Given the description of an element on the screen output the (x, y) to click on. 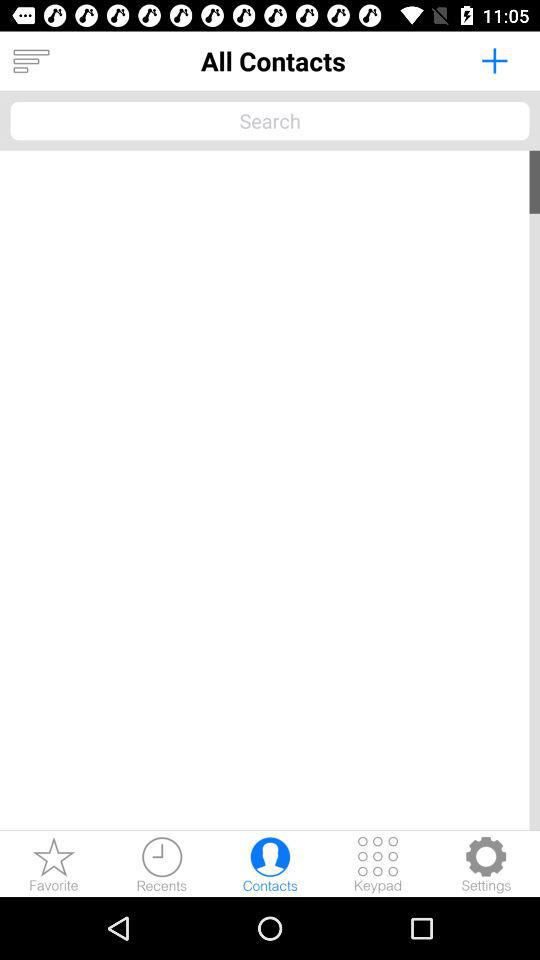
switch to recents tab (161, 864)
